Given the description of an element on the screen output the (x, y) to click on. 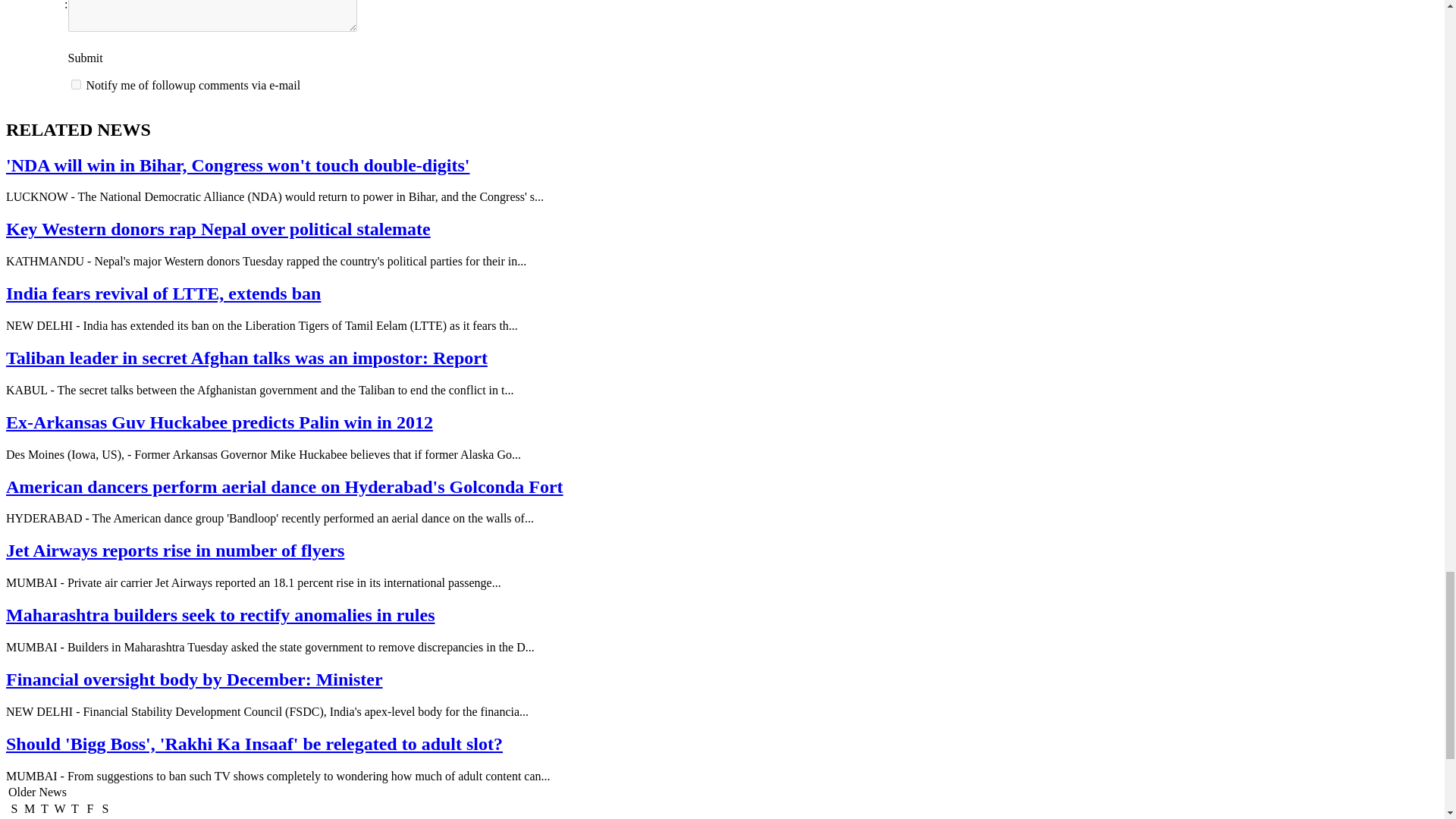
subscribe (76, 84)
